Given the description of an element on the screen output the (x, y) to click on. 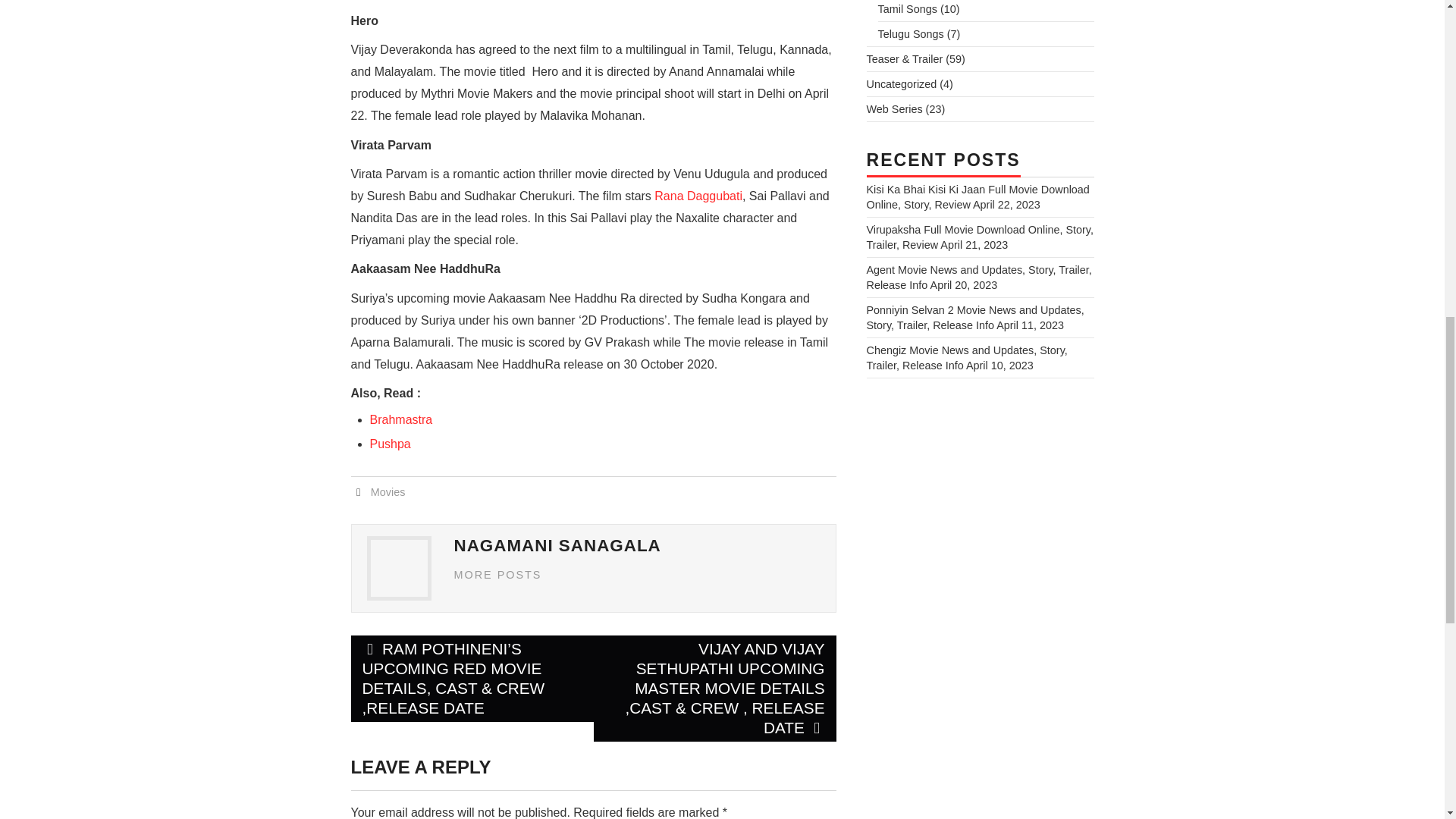
Brahmastra (400, 419)
MORE POSTS (496, 574)
Movies (388, 491)
Rana Daggubati (697, 195)
Pushpa (389, 443)
